Given the description of an element on the screen output the (x, y) to click on. 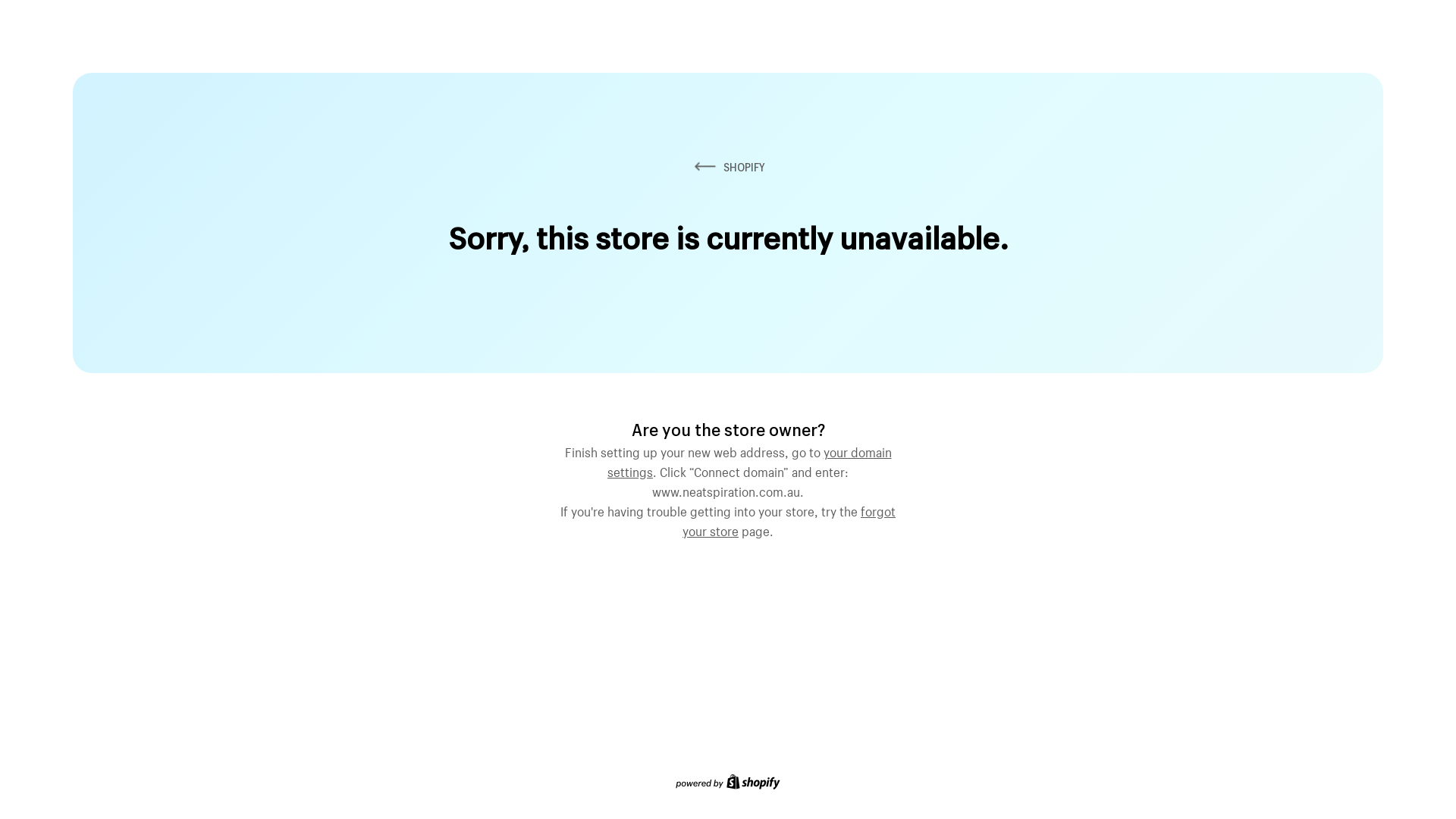
SHOPIFY Element type: text (727, 167)
forgot your store Element type: text (788, 519)
your domain settings Element type: text (749, 460)
